Given the description of an element on the screen output the (x, y) to click on. 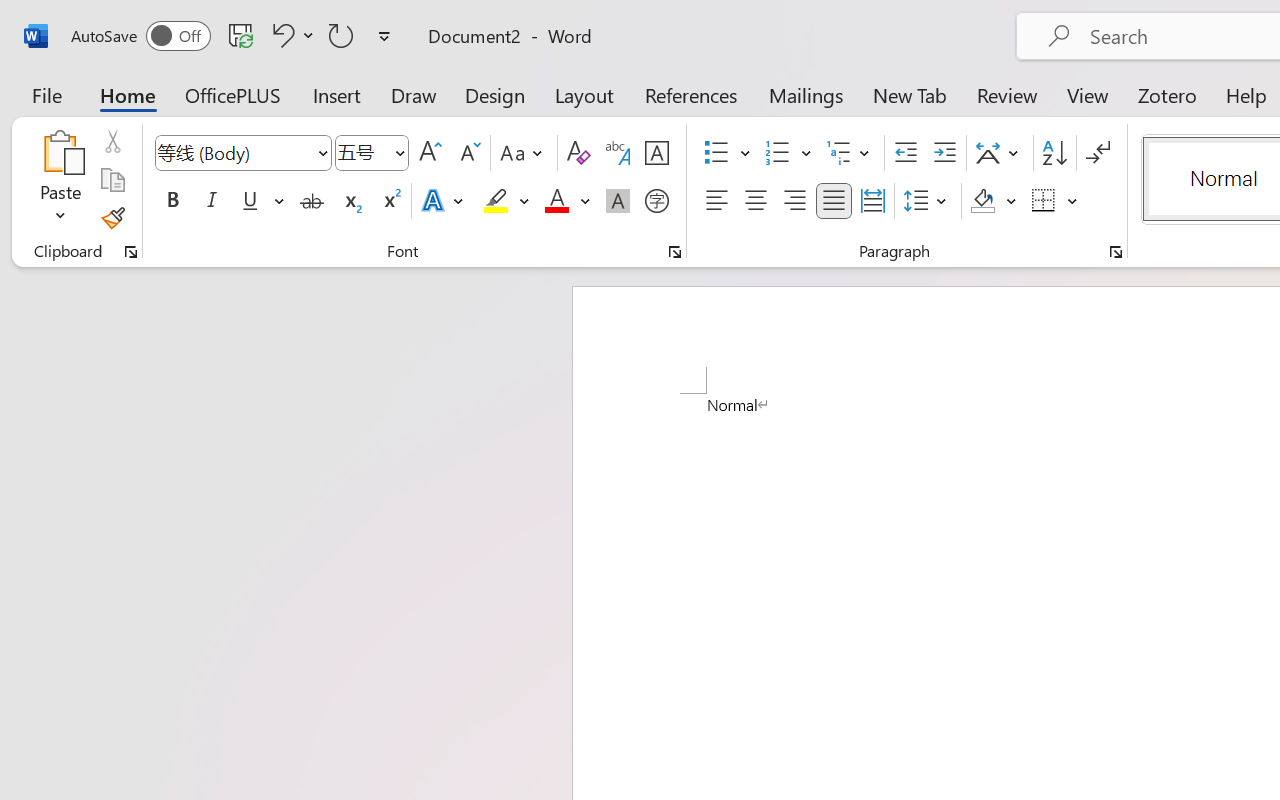
Show/Hide Editing Marks (1098, 153)
Strikethrough (312, 201)
